Given the description of an element on the screen output the (x, y) to click on. 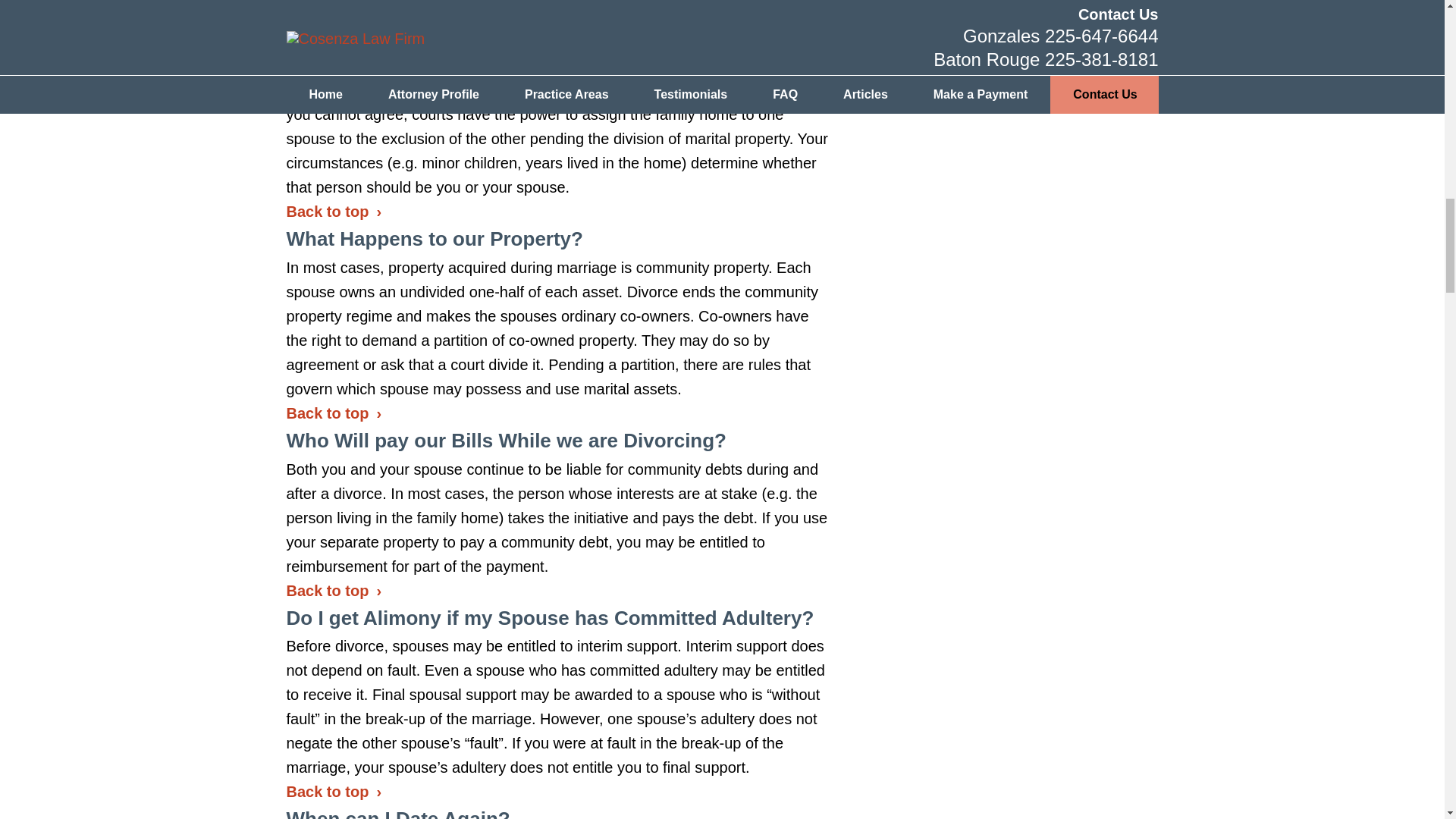
Back to top (333, 791)
Back to top (333, 590)
Back to top (333, 211)
Back to top (333, 413)
Back to top (333, 11)
